Given the description of an element on the screen output the (x, y) to click on. 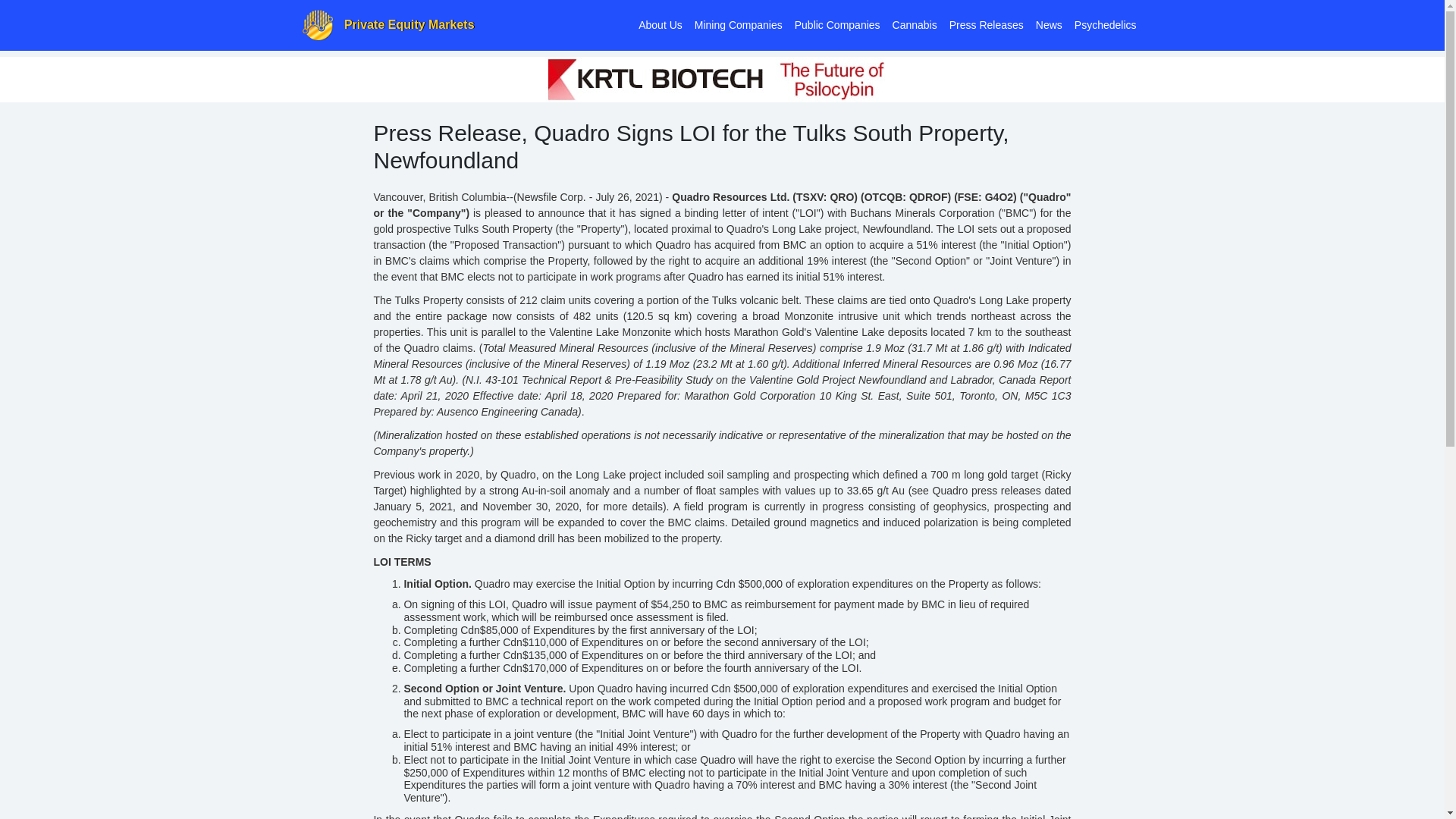
News (1048, 24)
Mining Companies (738, 24)
About Us (659, 24)
Psychedelics (1105, 24)
Cannabis (914, 24)
Press Releases (986, 24)
Private Equity Markets (387, 25)
Public Companies (837, 24)
